Given the description of an element on the screen output the (x, y) to click on. 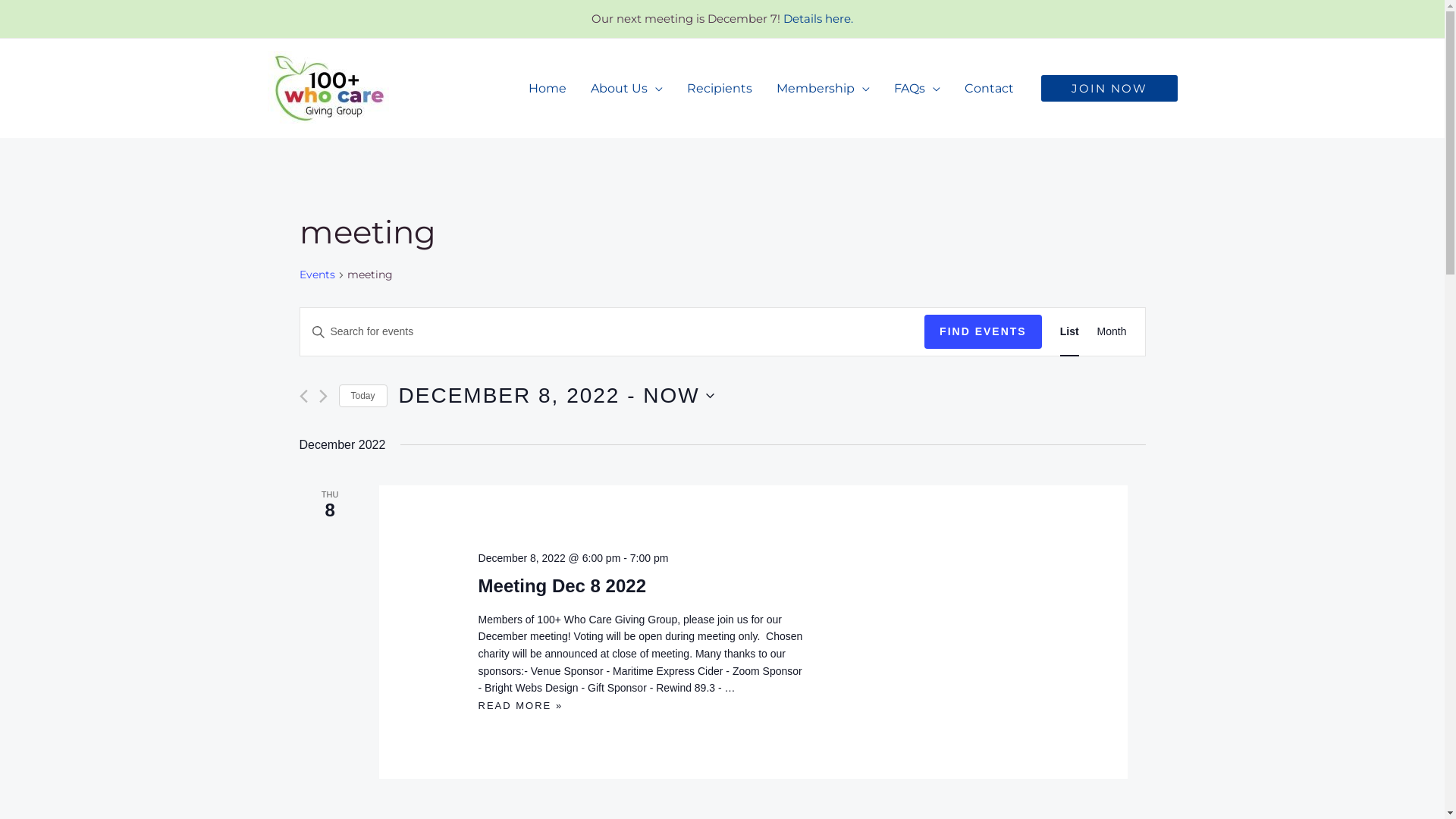
FIND EVENTS Element type: text (982, 331)
List Element type: text (1069, 331)
Home Element type: text (546, 88)
Membership Element type: text (822, 88)
Events Element type: text (316, 275)
FAQs Element type: text (916, 88)
Month Element type: text (1111, 331)
Contact Element type: text (989, 88)
Next Events Element type: hover (322, 396)
About Us Element type: text (625, 88)
Recipients Element type: text (719, 88)
Today Element type: text (362, 395)
DECEMBER 8, 2022
 - 
NOW Element type: text (556, 395)
Meeting Dec 8 2022 Element type: text (562, 585)
JOIN NOW Element type: text (1108, 88)
Previous Events Element type: hover (302, 396)
Details here. Element type: text (818, 18)
